Given the description of an element on the screen output the (x, y) to click on. 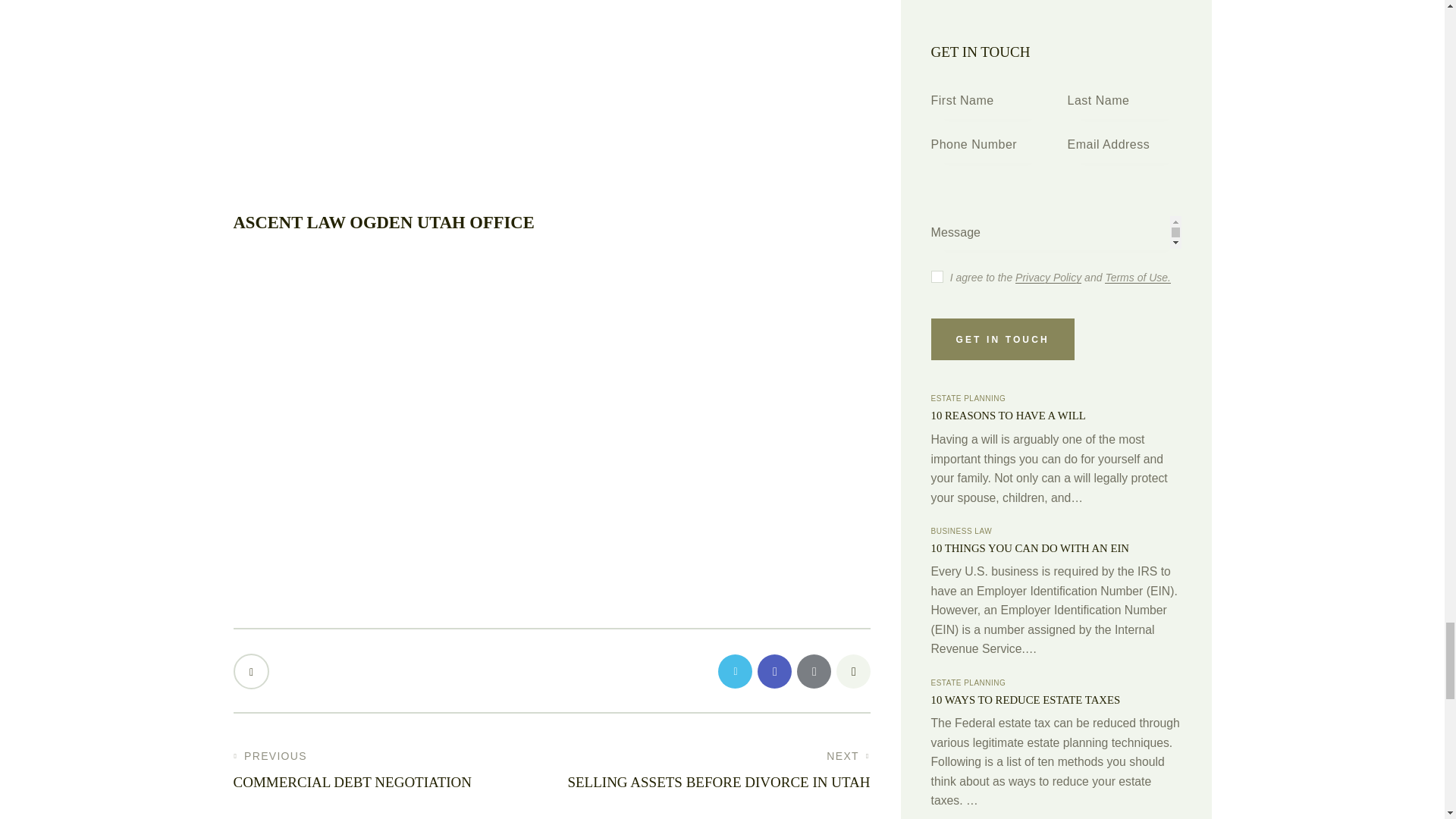
Copy URL to clipboard (852, 671)
Like (252, 671)
